Given the description of an element on the screen output the (x, y) to click on. 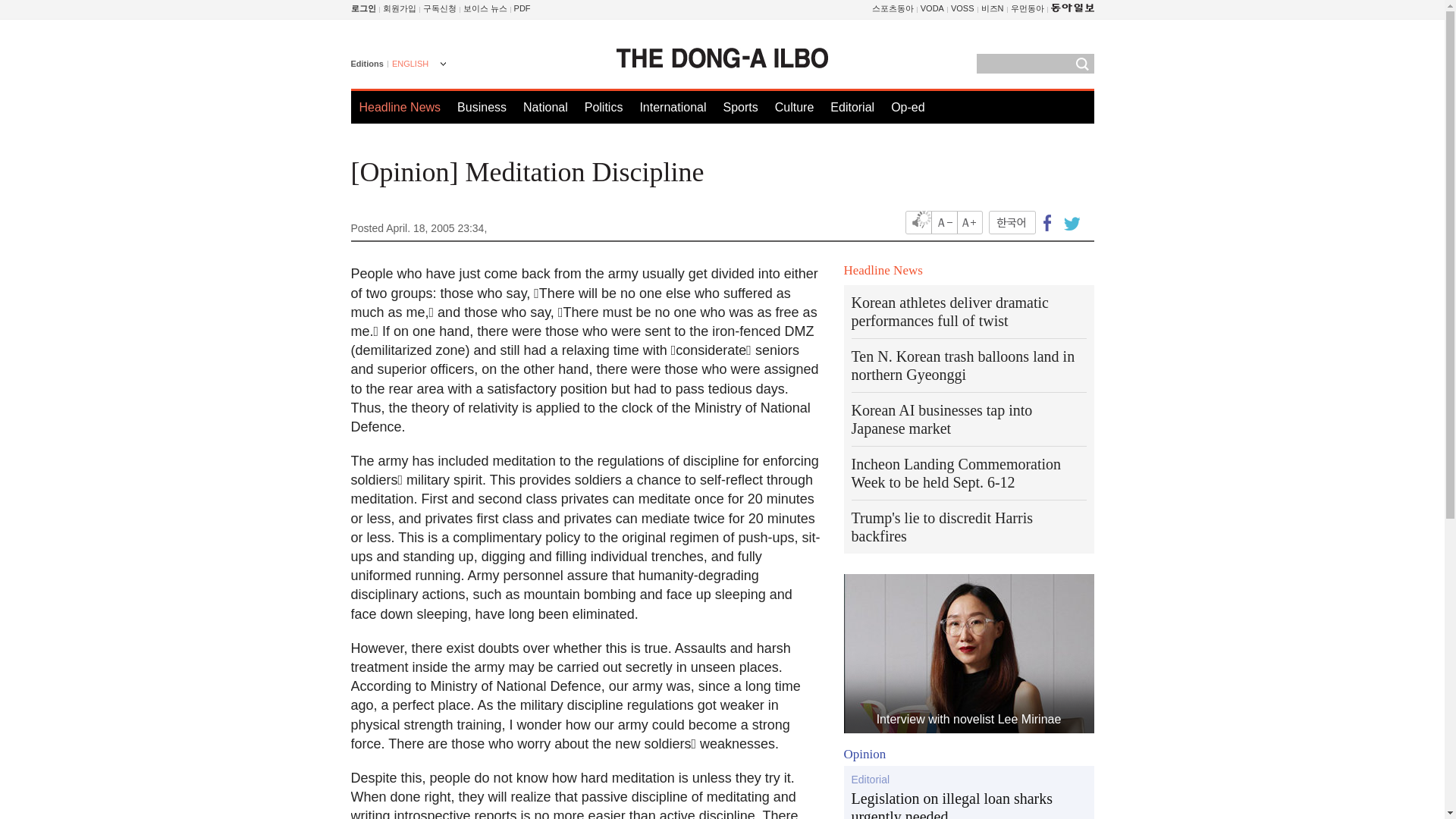
ENGLISH (416, 65)
Op-ed (907, 106)
Font size down (944, 222)
VODA (931, 8)
Headline News (400, 106)
PDF (522, 8)
Sports (739, 106)
Business (481, 106)
National (544, 106)
READERS (440, 8)
